Given the description of an element on the screen output the (x, y) to click on. 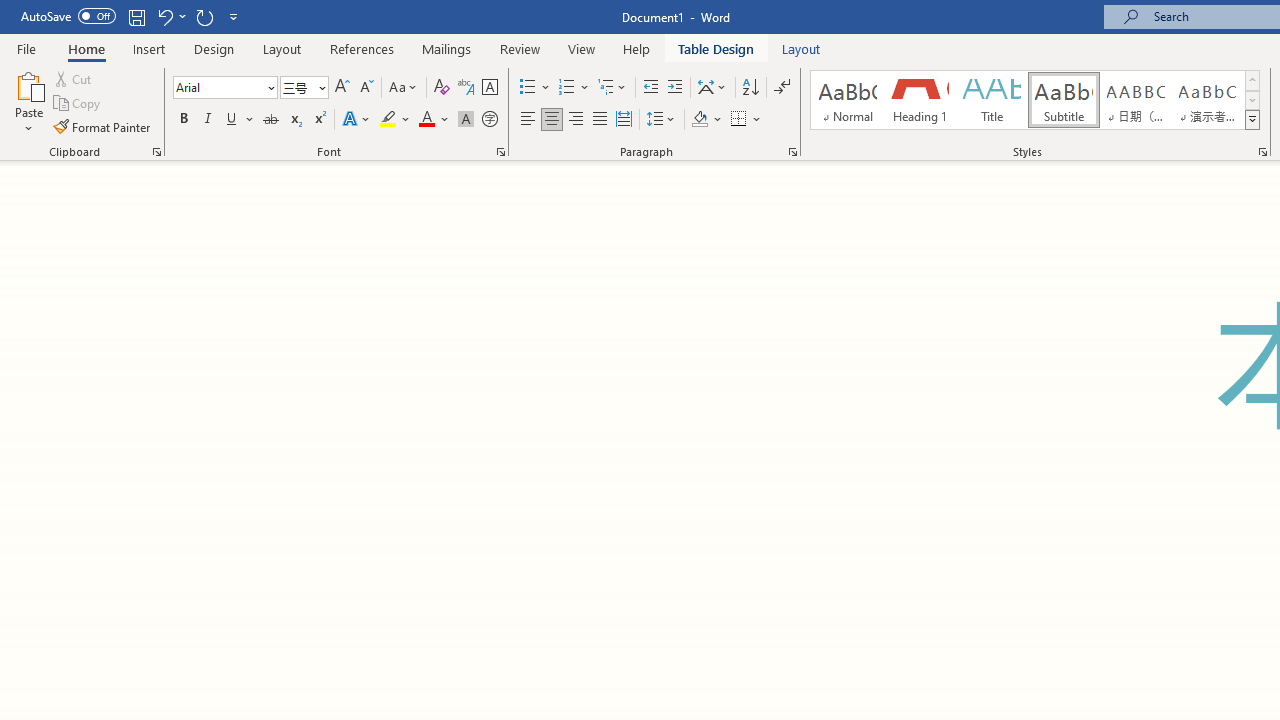
Subtitle (1063, 100)
Format Painter (103, 126)
Repeat Doc Close (204, 15)
Paragraph... (792, 151)
Multilevel List (613, 87)
